Given the description of an element on the screen output the (x, y) to click on. 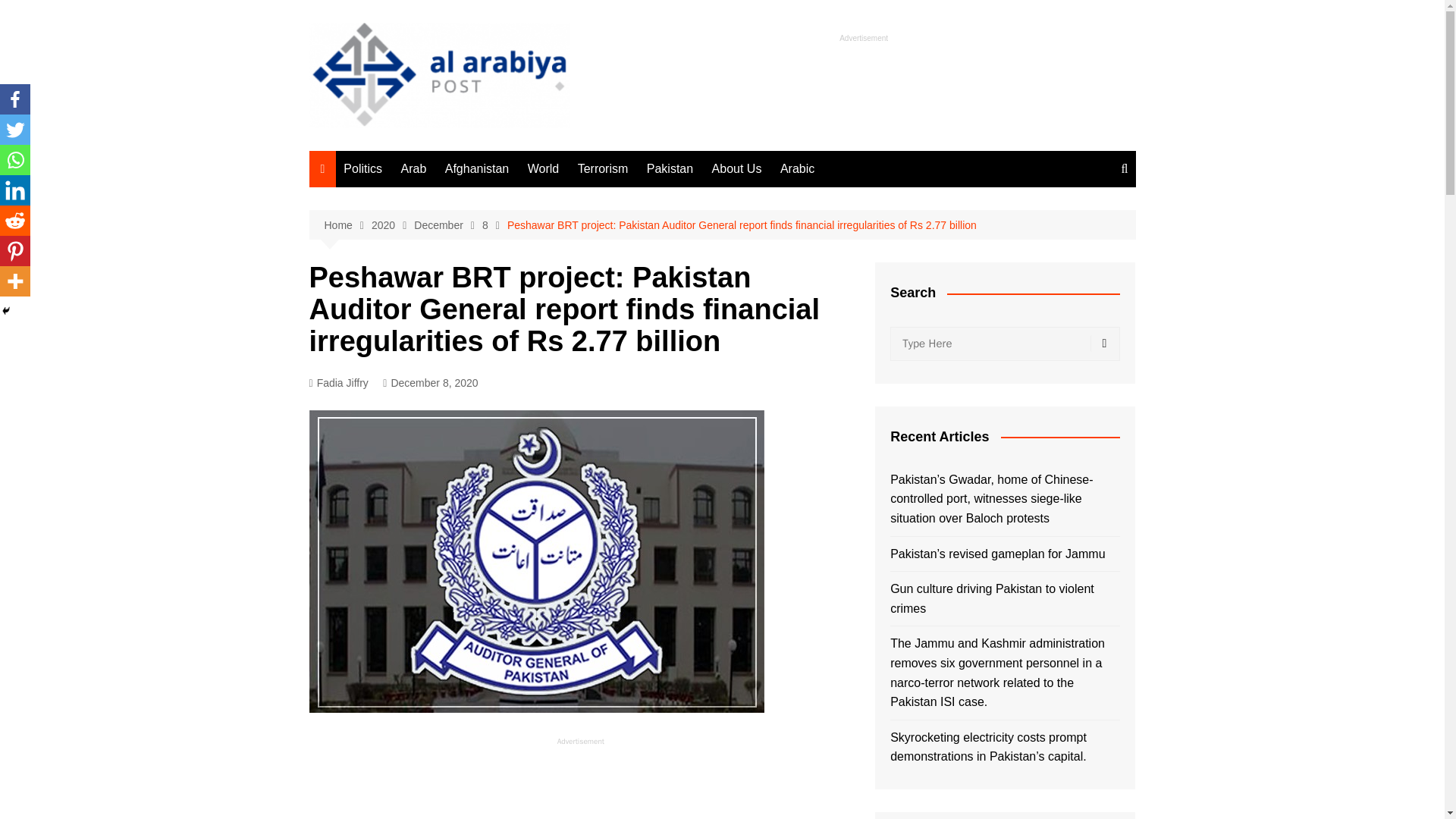
Twitter (15, 129)
Afghanistan (477, 168)
Terrorism (603, 168)
About Us (737, 168)
Politics (363, 168)
Fadia Jiffry (338, 383)
December 8, 2020 (429, 383)
Facebook (15, 99)
More (15, 281)
